Given the description of an element on the screen output the (x, y) to click on. 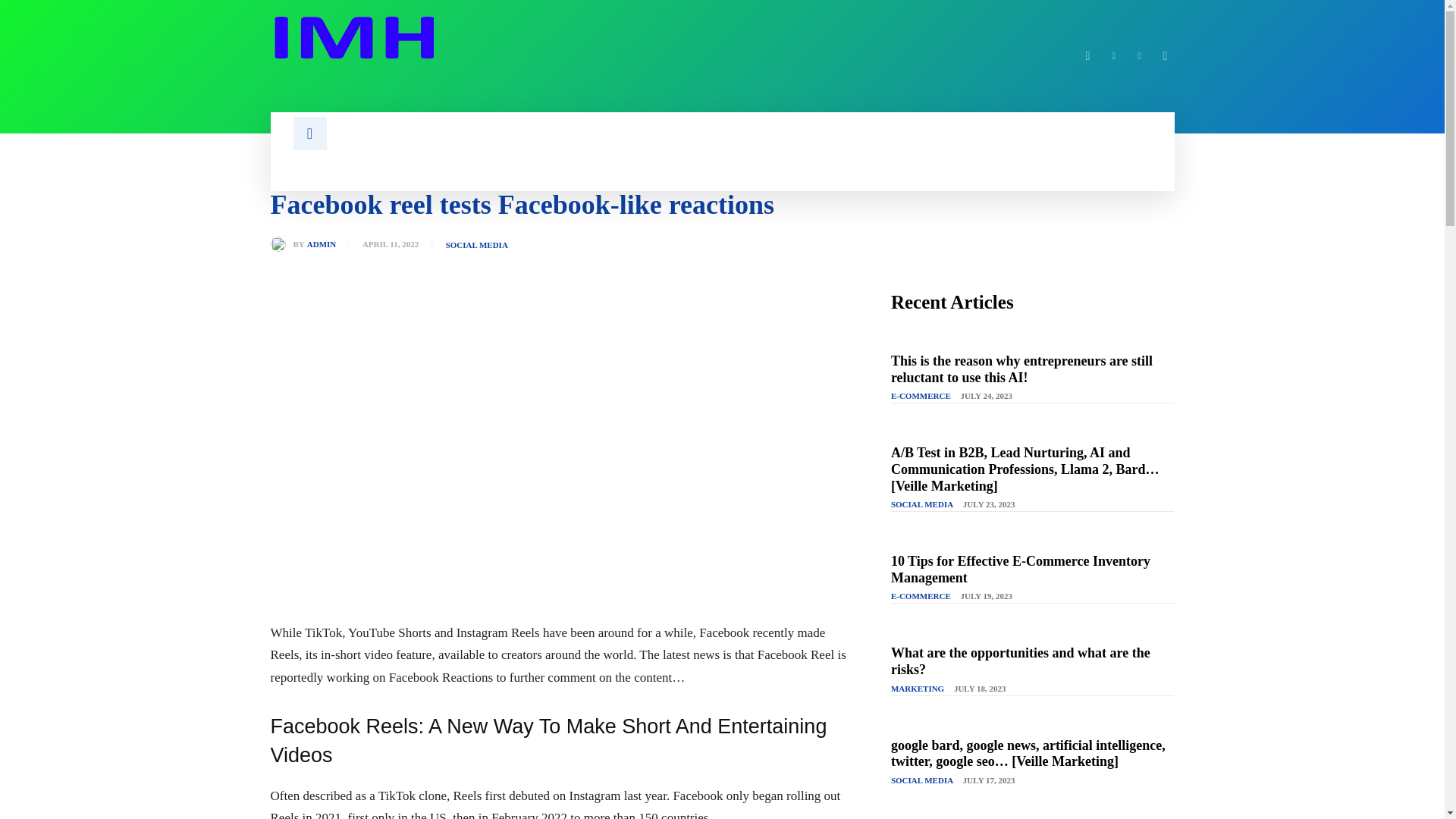
SOCIAL MEDIA (476, 244)
Youtube (1164, 55)
ADMIN (321, 244)
Twitter (1138, 55)
admin (280, 243)
Facebook (1087, 55)
Linkedin (1112, 55)
